Given the description of an element on the screen output the (x, y) to click on. 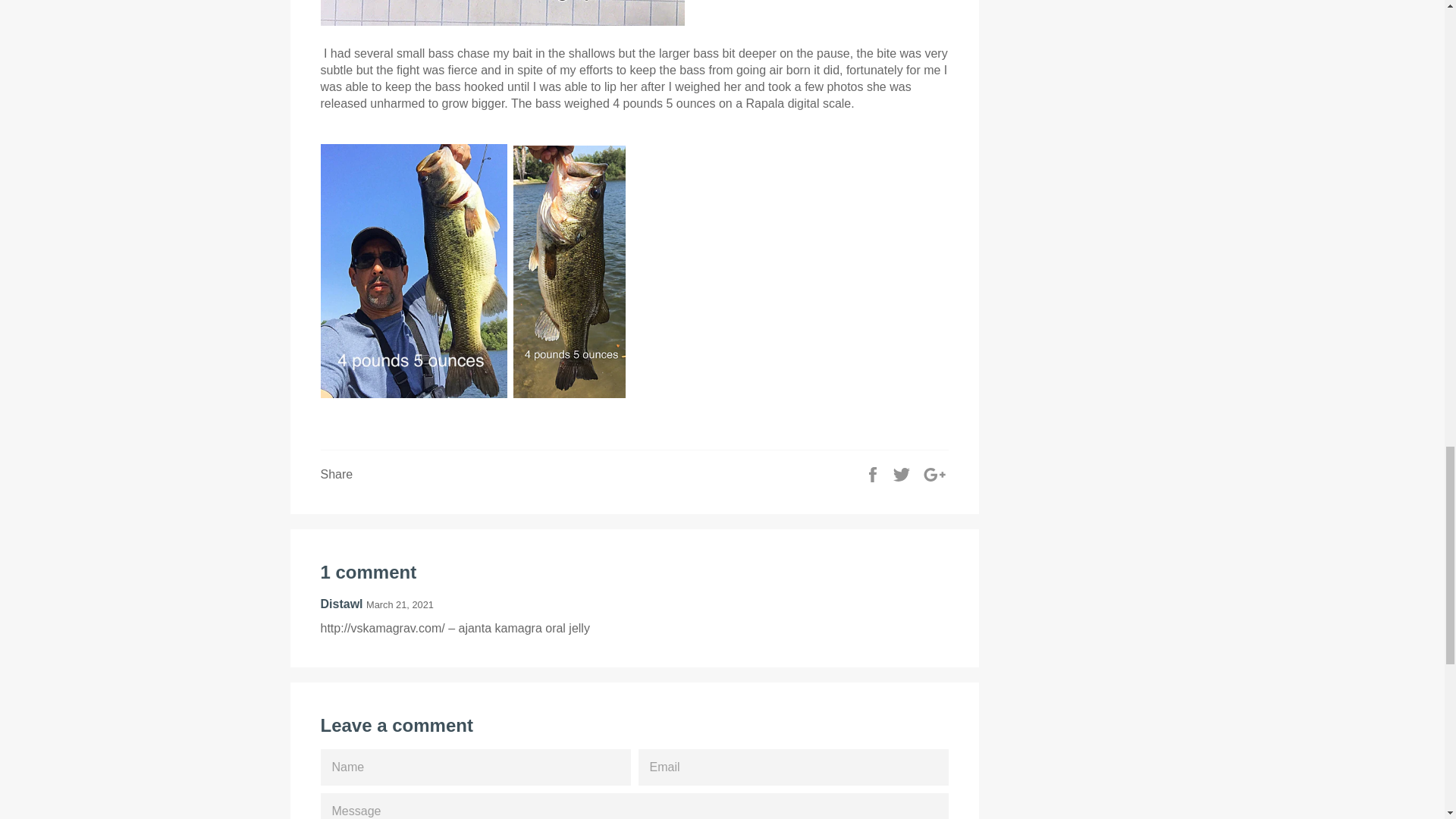
Tweet on Twitter (903, 472)
Tweet on Twitter (903, 472)
Share on Facebook (874, 472)
Stick Baits by Bass In The Hood (502, 21)
Share on Facebook (874, 472)
